Given the description of an element on the screen output the (x, y) to click on. 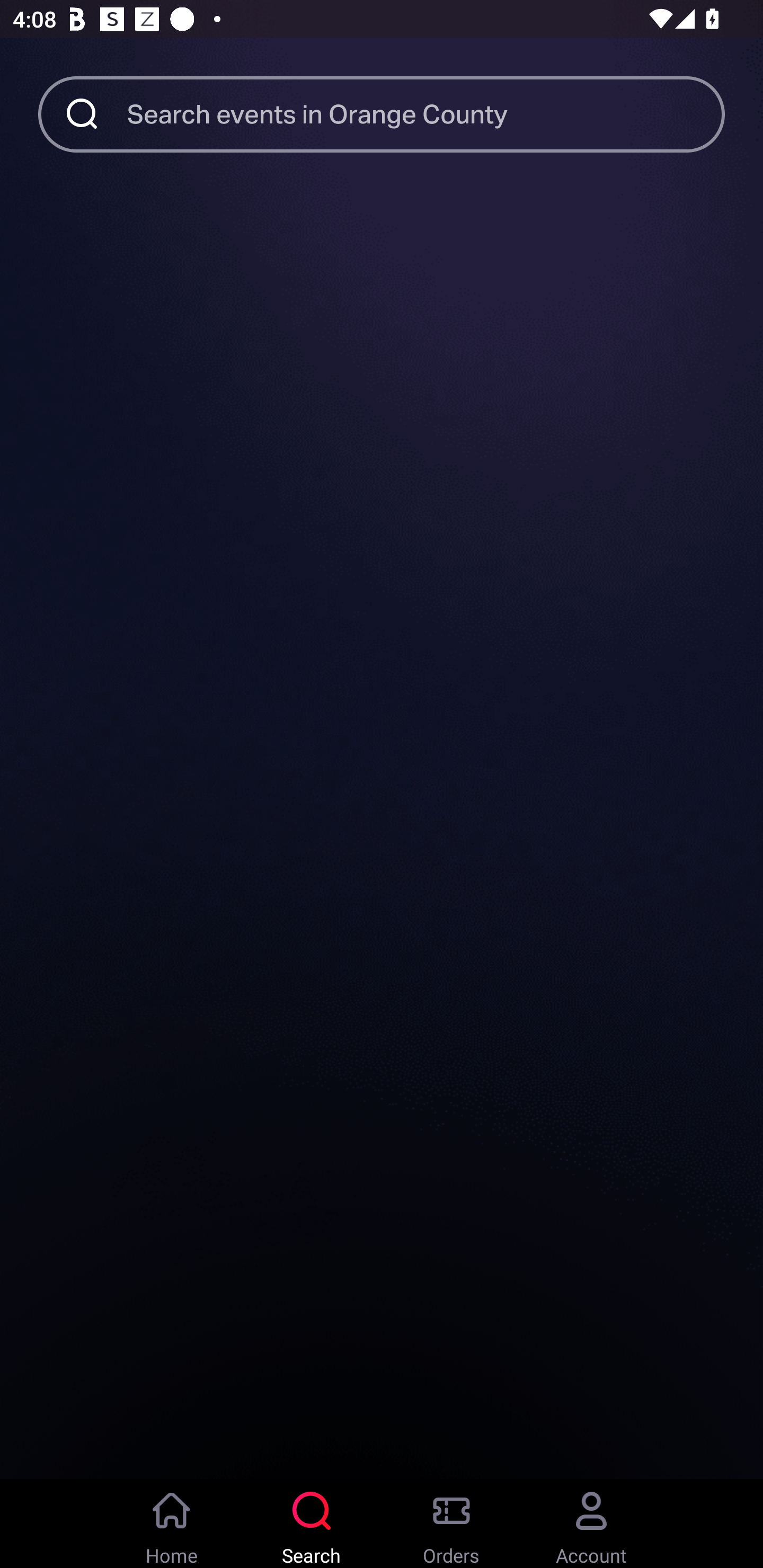
Search events in Orange County (425, 113)
Home (171, 1523)
Orders (451, 1523)
Account (591, 1523)
